Given the description of an element on the screen output the (x, y) to click on. 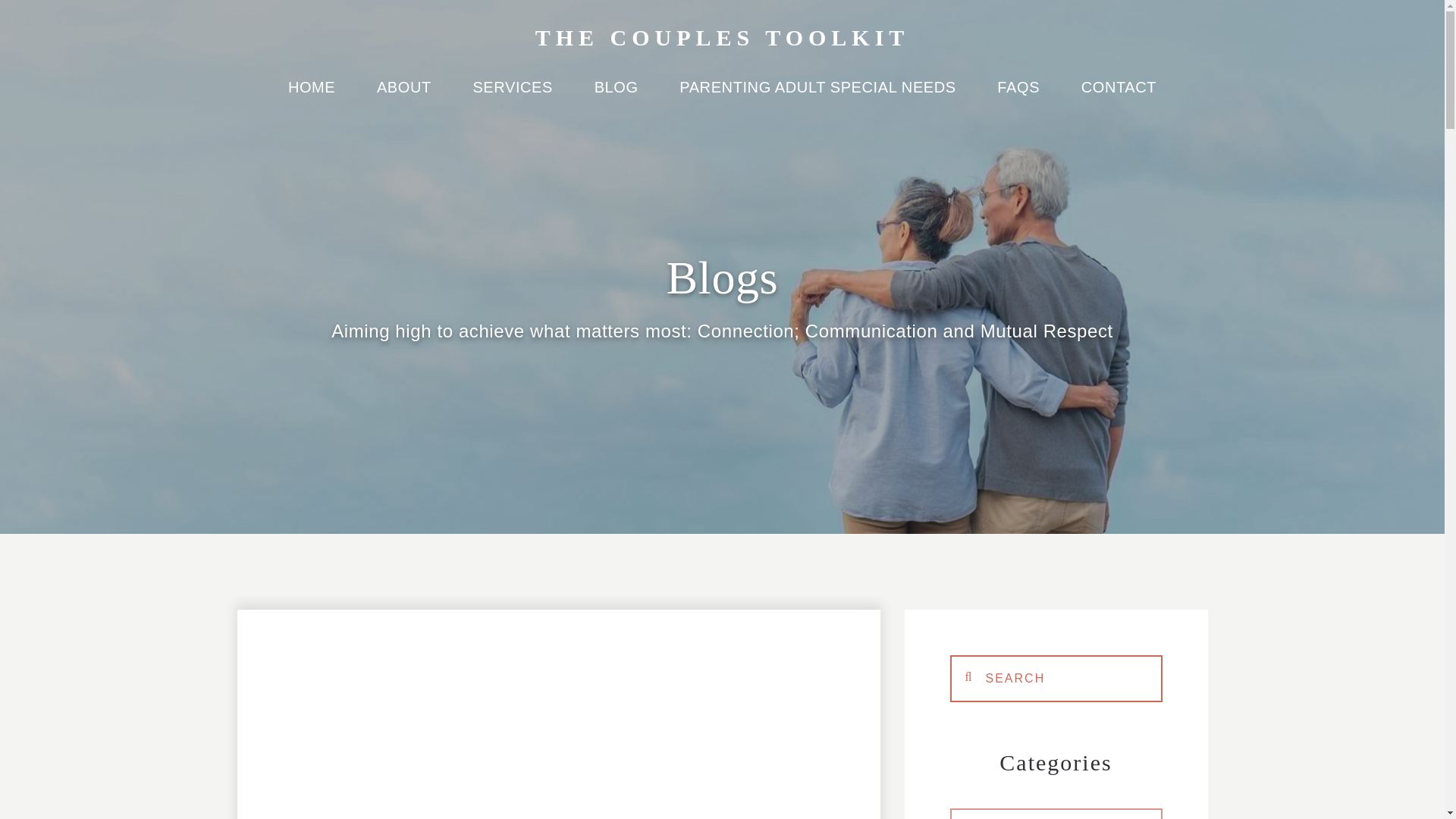
Go (1055, 677)
ABOUT (403, 96)
THE COUPLES TOOLKIT (722, 37)
CONTACT (1118, 96)
HOME (311, 96)
BLOG (616, 96)
FAQS (1018, 96)
SERVICES (512, 96)
PARENTING ADULT SPECIAL NEEDS (817, 96)
